Given the description of an element on the screen output the (x, y) to click on. 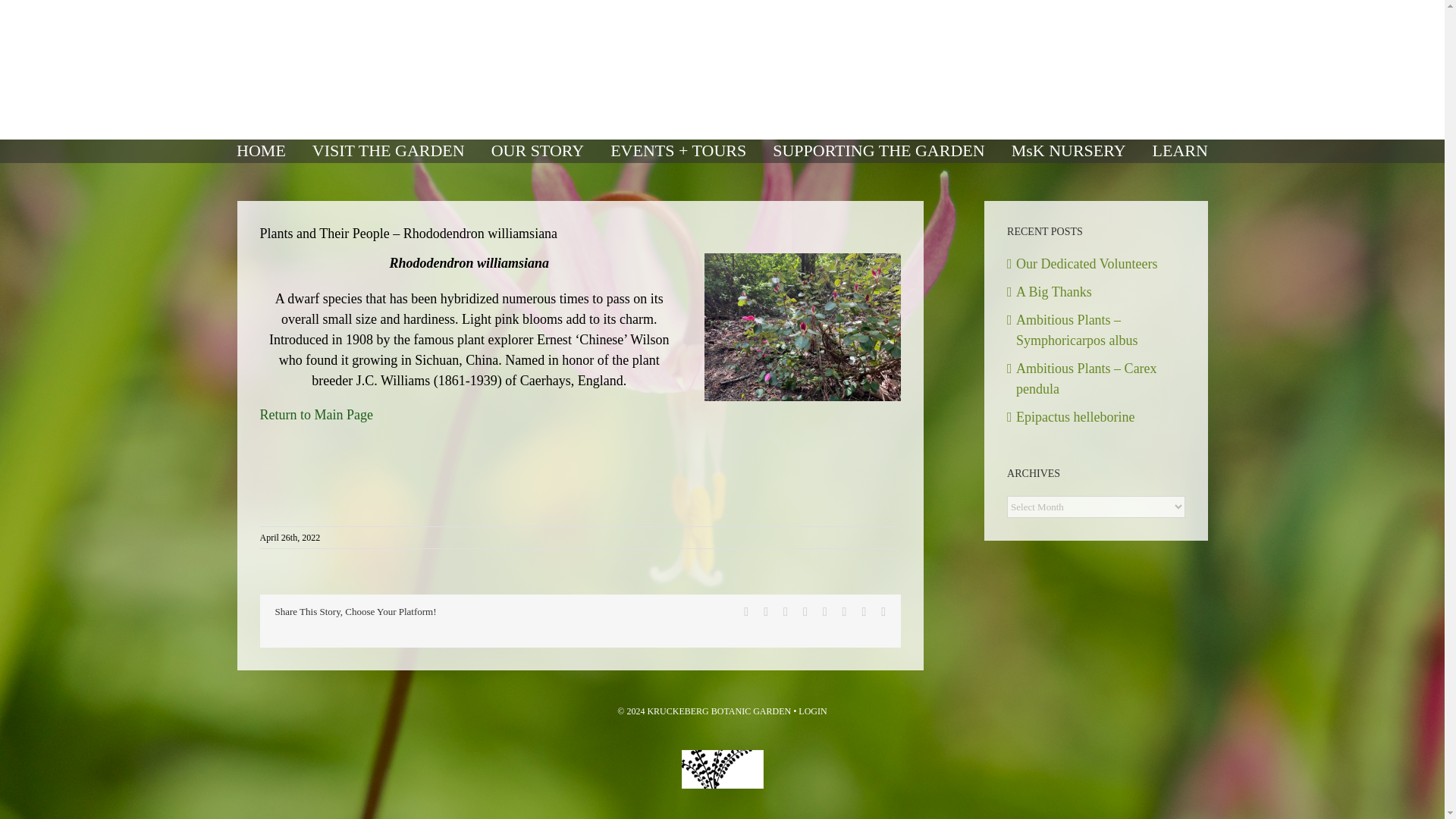
OUR STORY (536, 150)
SUPPORTING THE GARDEN (878, 150)
Return to Main Page (315, 415)
VISIT THE GARDEN (387, 150)
HOME (261, 150)
MsK NURSERY (1067, 150)
LEARN (1179, 150)
